Given the description of an element on the screen output the (x, y) to click on. 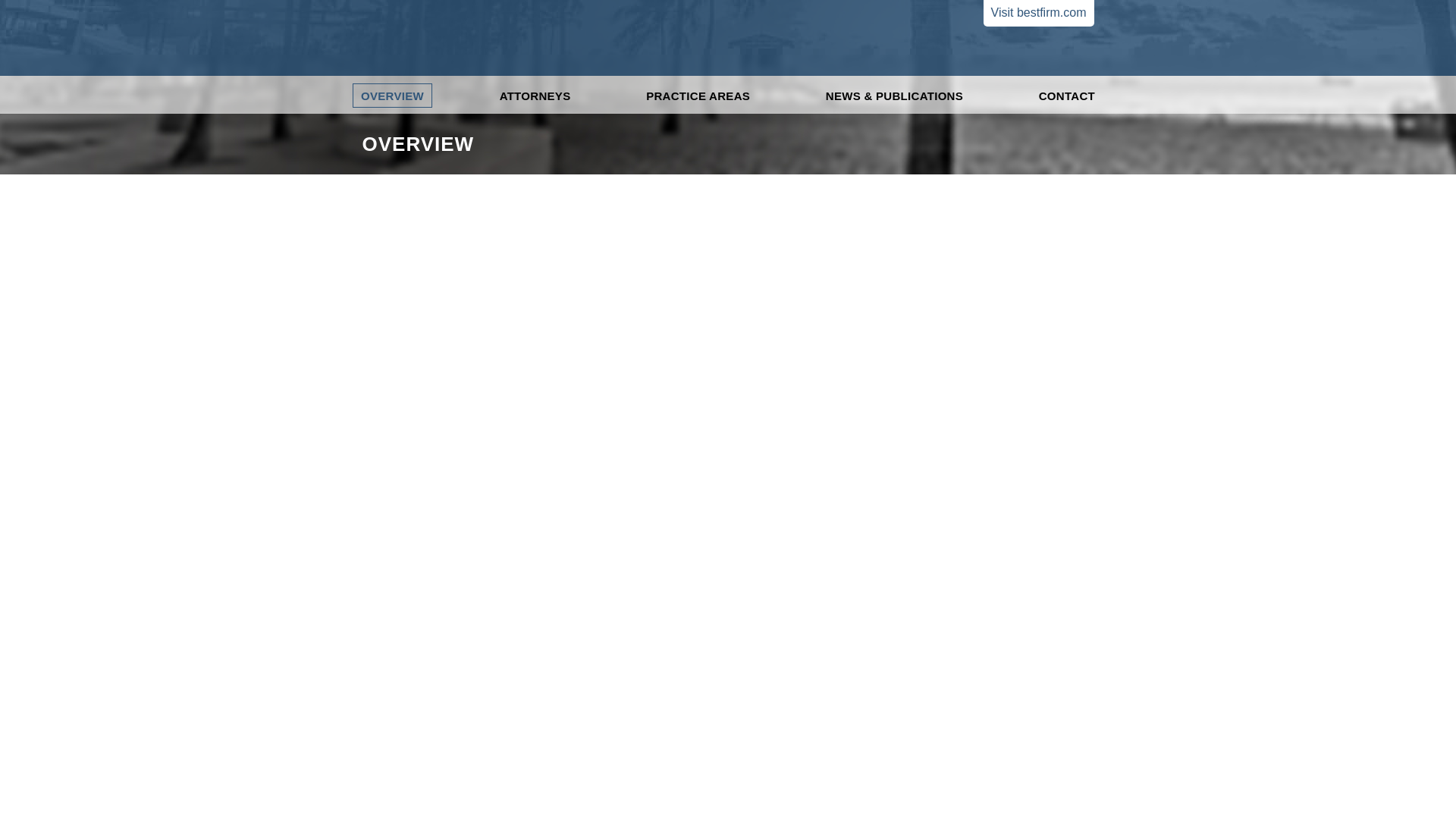
ATTORNEYS (535, 95)
CONTACT (1066, 95)
OVERVIEW (392, 95)
PRACTICE AREAS (697, 95)
Visit bestfirm.com (1039, 13)
